Given the description of an element on the screen output the (x, y) to click on. 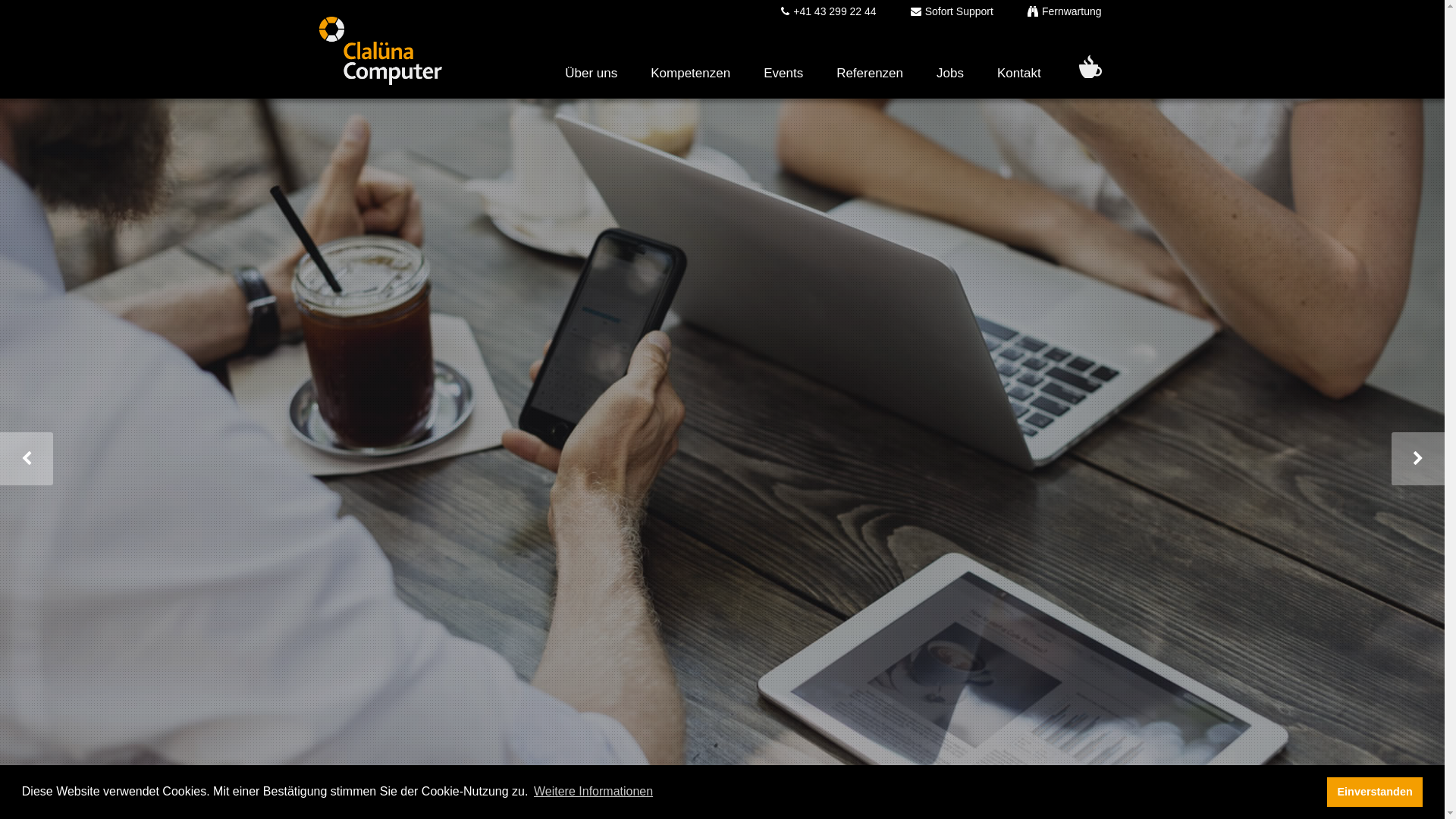
Kontakt Element type: text (1019, 60)
Fernwartung Element type: text (1051, 11)
Kompetenzen Element type: text (690, 60)
Weitere Informationen Element type: text (593, 791)
Sofort Support Element type: text (938, 11)
Jobs Element type: text (950, 60)
Einverstanden Element type: text (1374, 791)
Events Element type: text (783, 60)
Referenzen Element type: text (869, 60)
